Given the description of an element on the screen output the (x, y) to click on. 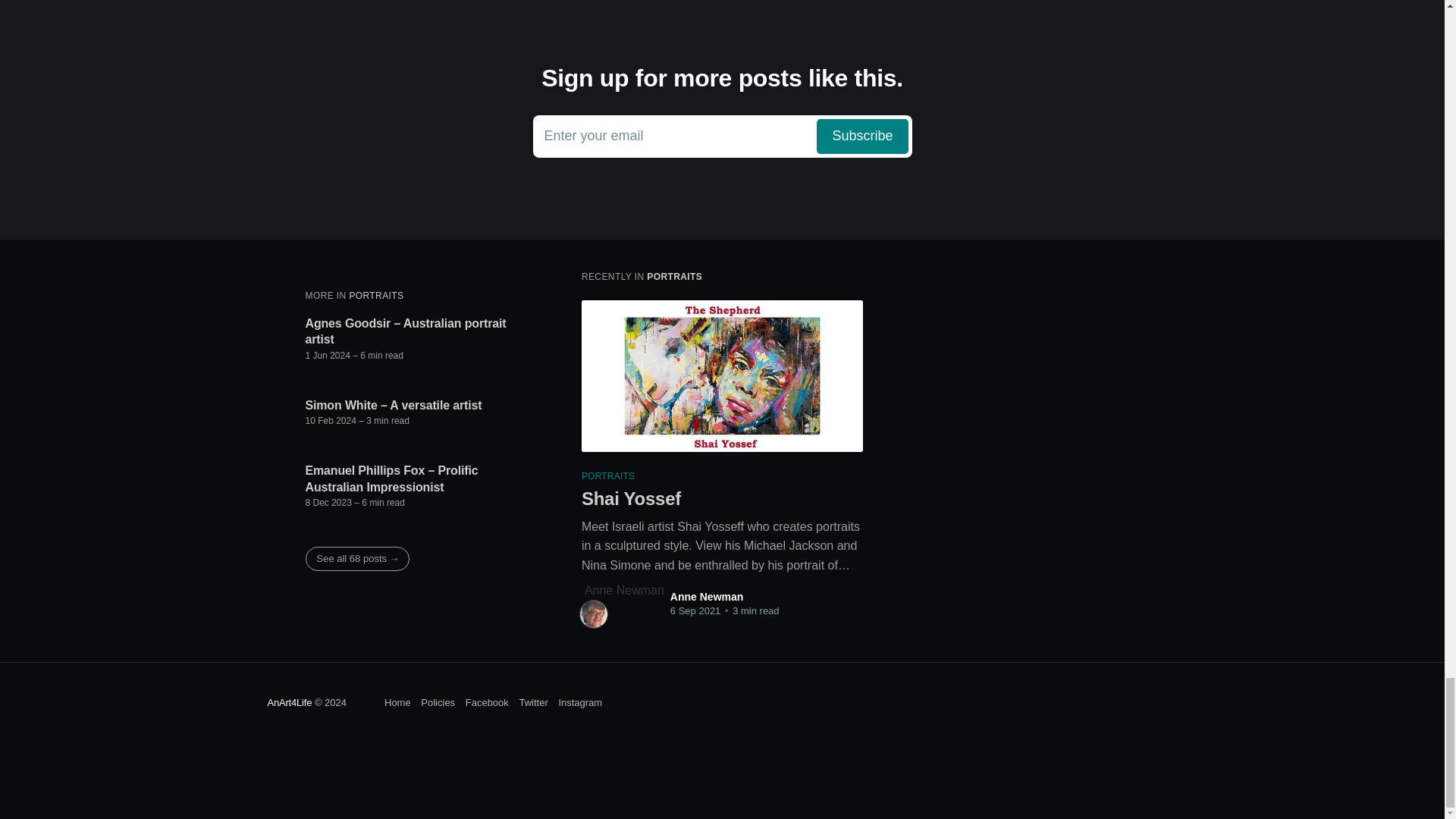
Anne Newman (705, 596)
PORTRAITS (673, 276)
PORTRAITS (721, 136)
Home (376, 295)
Policies (397, 702)
AnArt4Life (437, 702)
Facebook (288, 702)
